Given the description of an element on the screen output the (x, y) to click on. 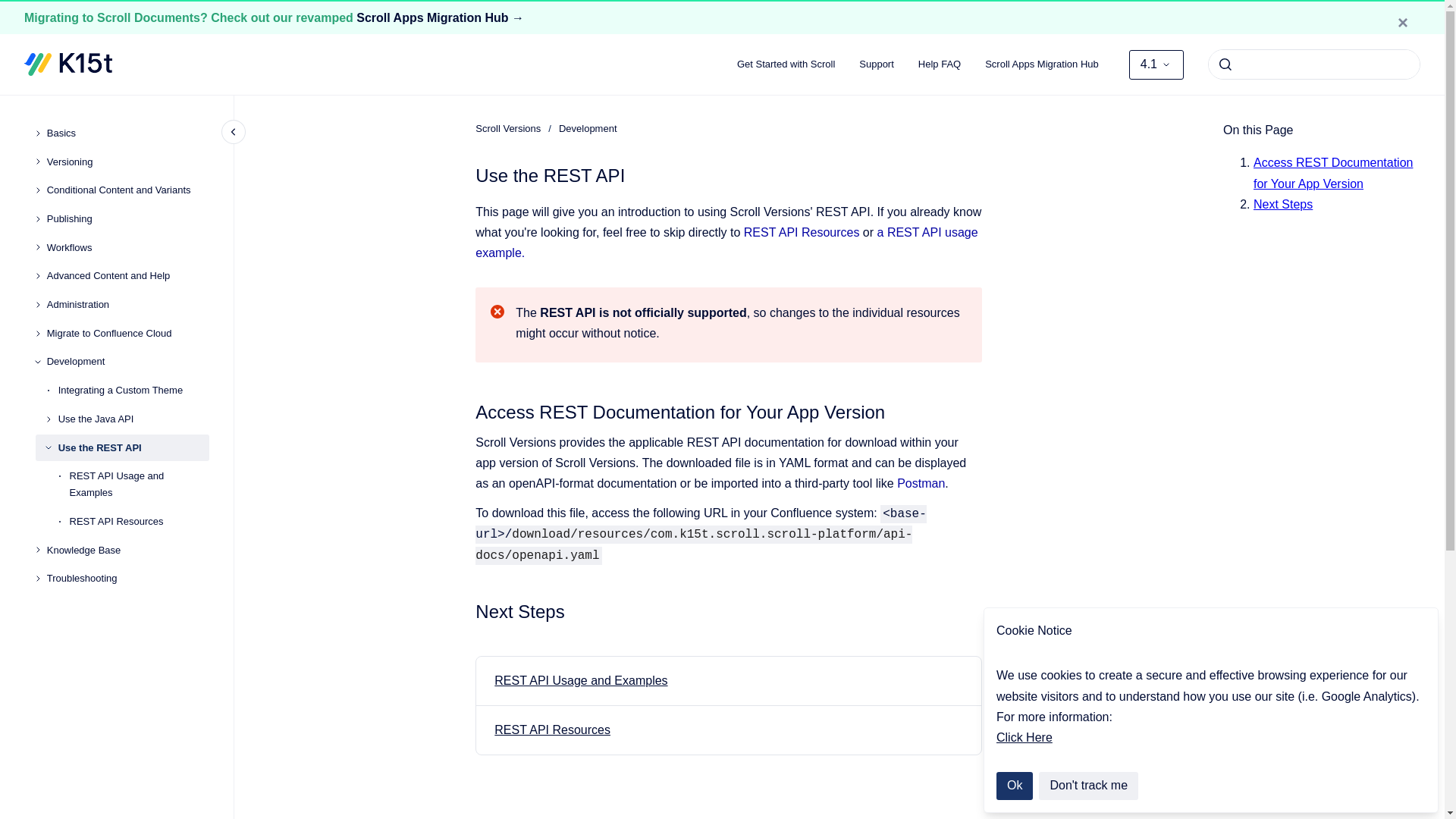
Migrate to Confluence Cloud (127, 333)
Publishing (127, 218)
Administration (127, 304)
Support (876, 64)
Help FAQ (938, 64)
REST API Resources (139, 521)
Conditional Content and Variants (127, 190)
Integrating a Custom Theme (133, 390)
Get Started with Scroll (786, 64)
Use the Java API (133, 419)
